Given the description of an element on the screen output the (x, y) to click on. 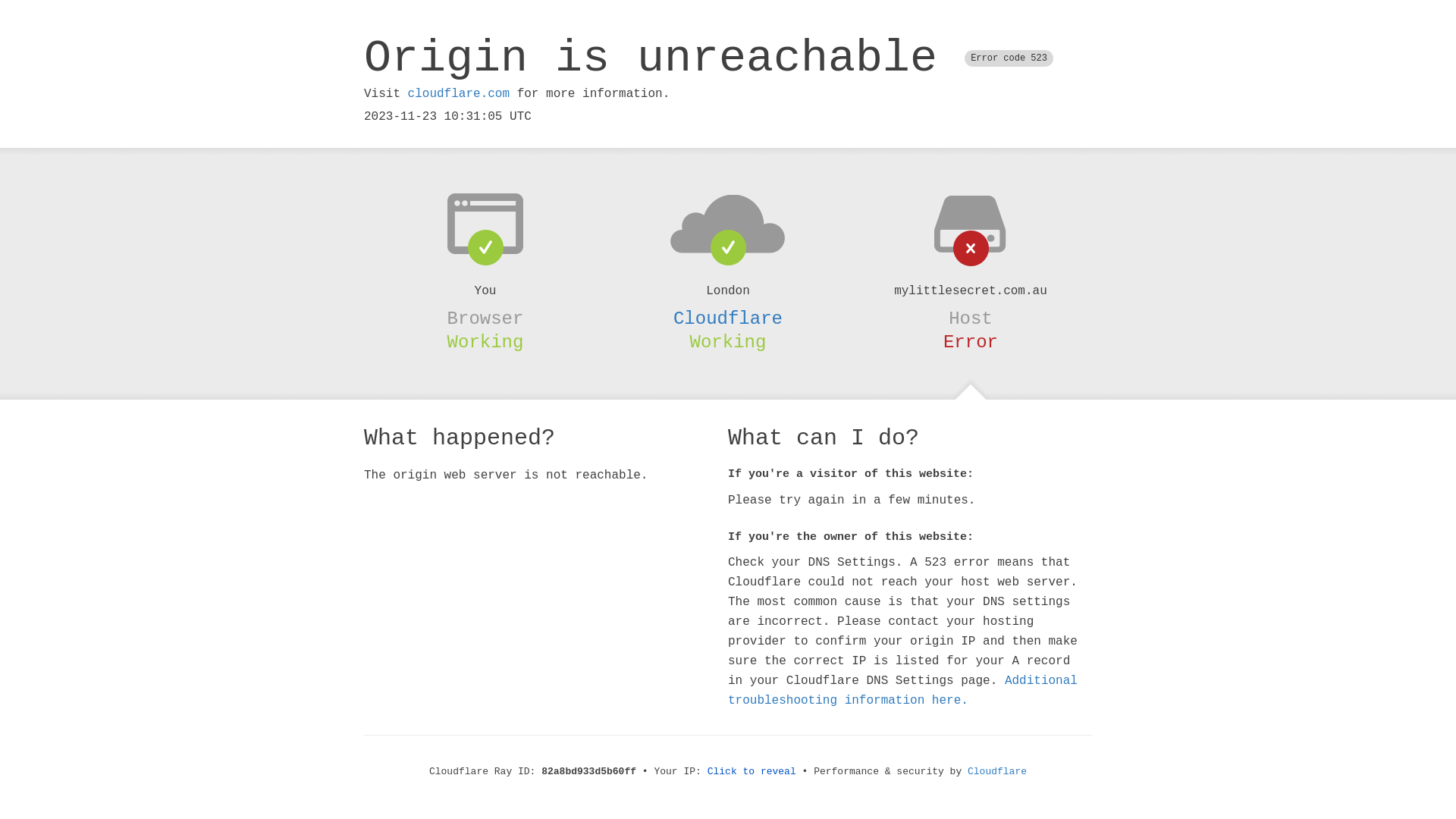
Cloudflare Element type: text (727, 318)
Cloudflare Element type: text (996, 771)
Click to reveal Element type: text (751, 771)
Additional troubleshooting information here. Element type: text (902, 690)
cloudflare.com Element type: text (458, 93)
